Given the description of an element on the screen output the (x, y) to click on. 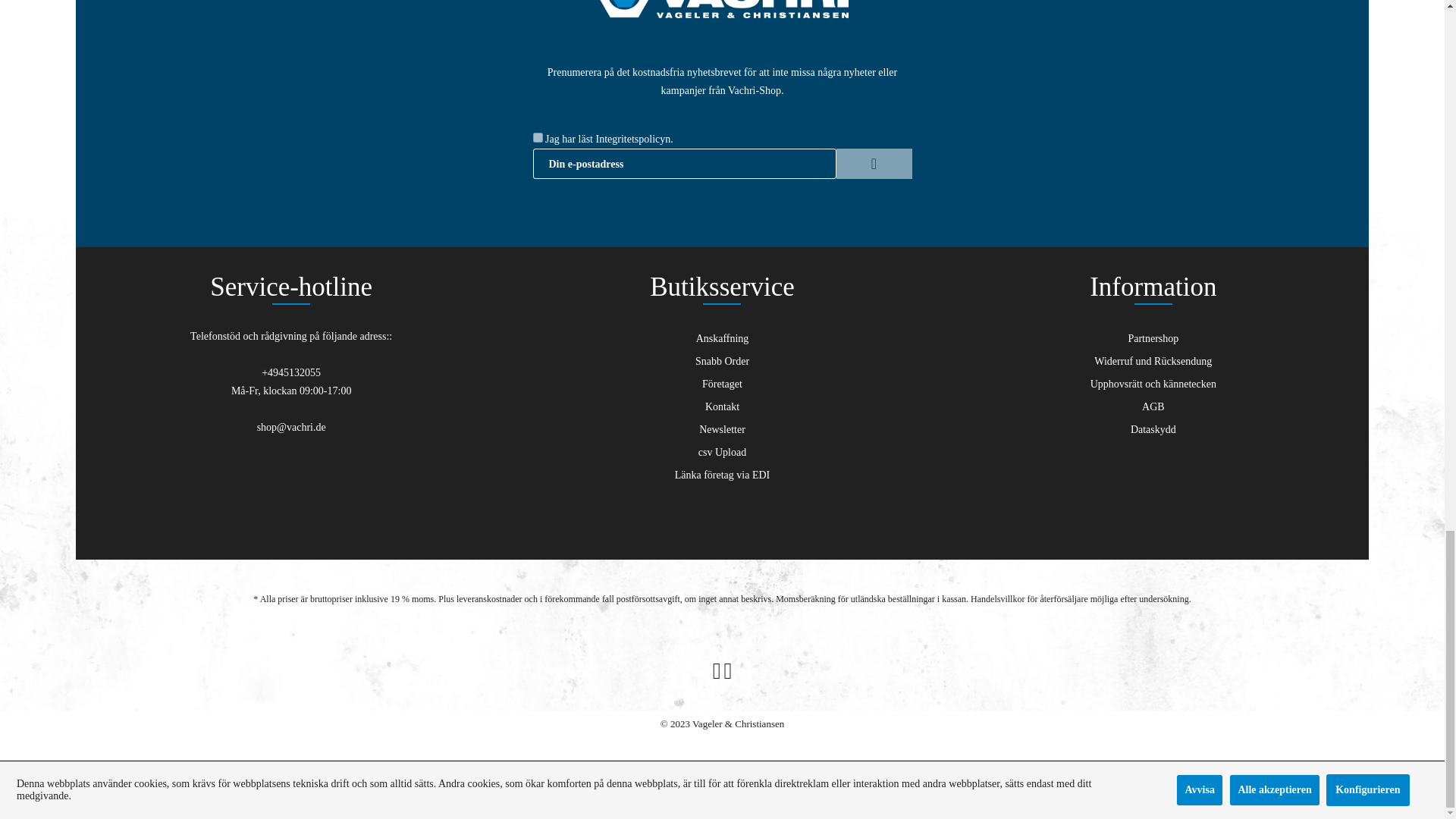
1 (536, 137)
